Given the description of an element on the screen output the (x, y) to click on. 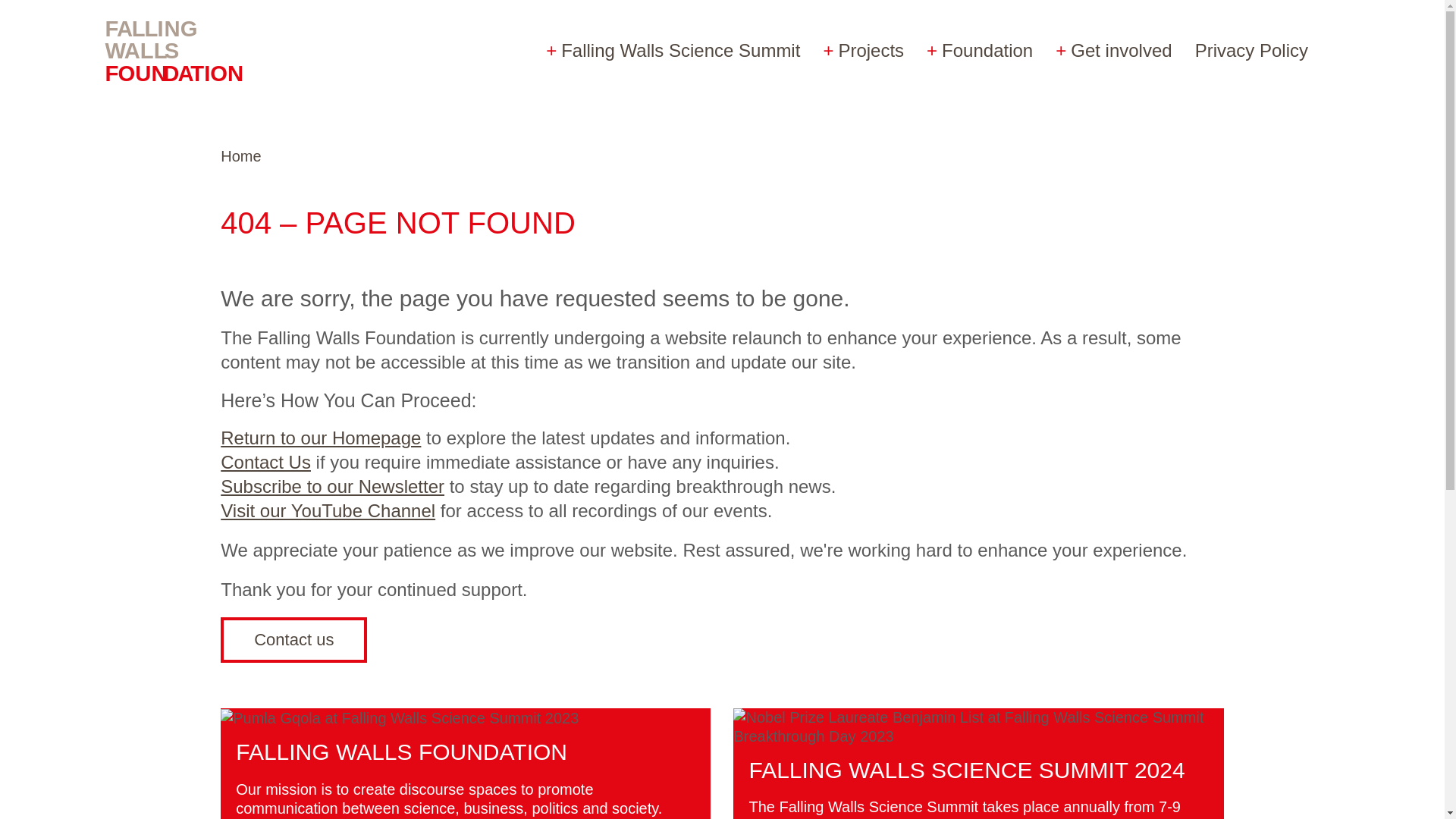
Expand menu Foundation (979, 50)
FALLING WALLS SCIENCE SUMMIT 2024 (966, 769)
Subscribe to our Newsletter (332, 485)
Privacy Policy (1251, 50)
Expand menu Get involved (1112, 50)
Contact us (293, 639)
Skip to main content (83, 15)
Return to our Homepage (320, 437)
Home (240, 156)
Visit our YouTube Channel (328, 510)
Expand menu Falling Walls Science Summit (672, 50)
FALLING WALLS FOUNDATION (401, 751)
Home (188, 50)
Expand menu Projects (862, 50)
Contact Us (266, 462)
